Given the description of an element on the screen output the (x, y) to click on. 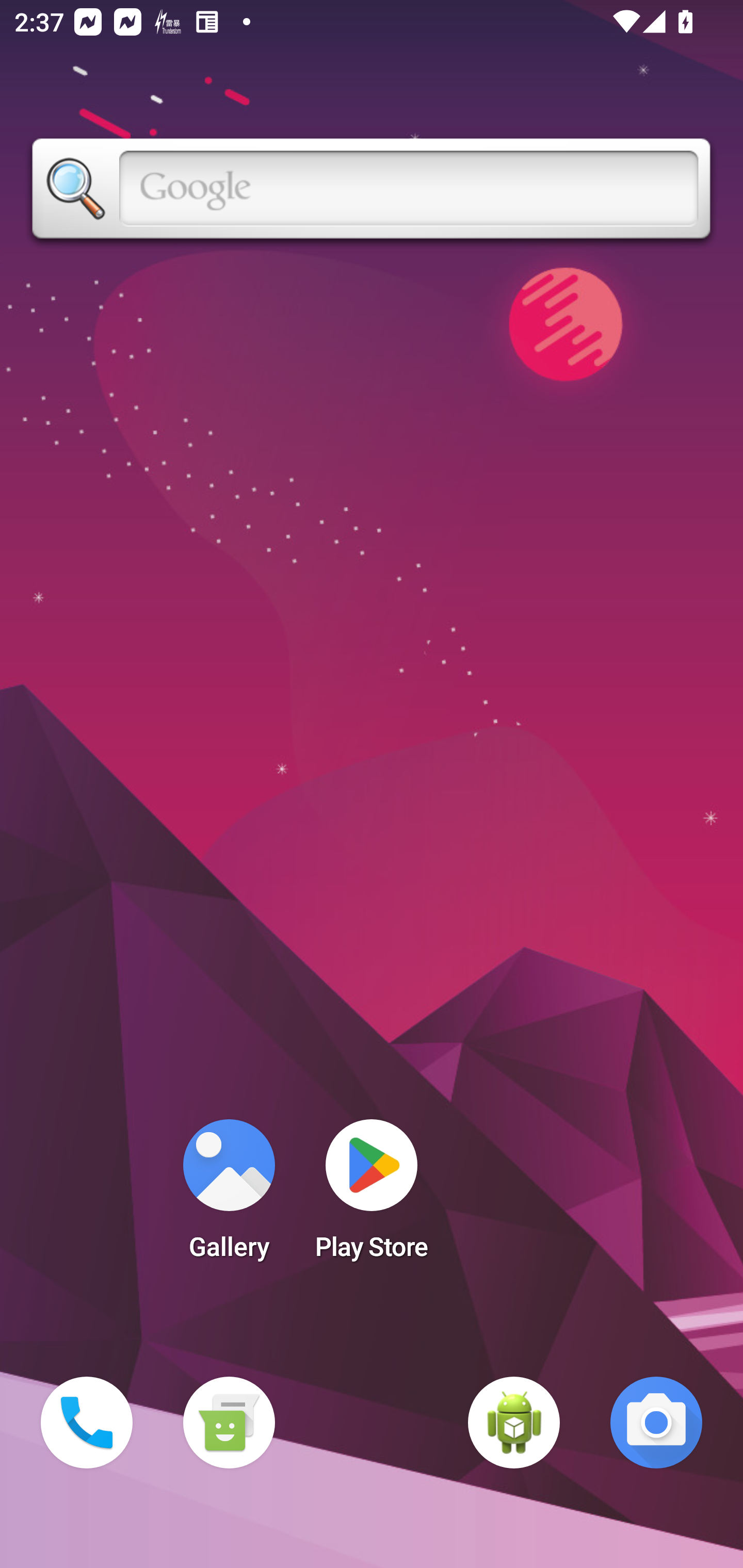
Gallery (228, 1195)
Play Store (371, 1195)
Phone (86, 1422)
Messaging (228, 1422)
WebView Browser Tester (513, 1422)
Camera (656, 1422)
